Given the description of an element on the screen output the (x, y) to click on. 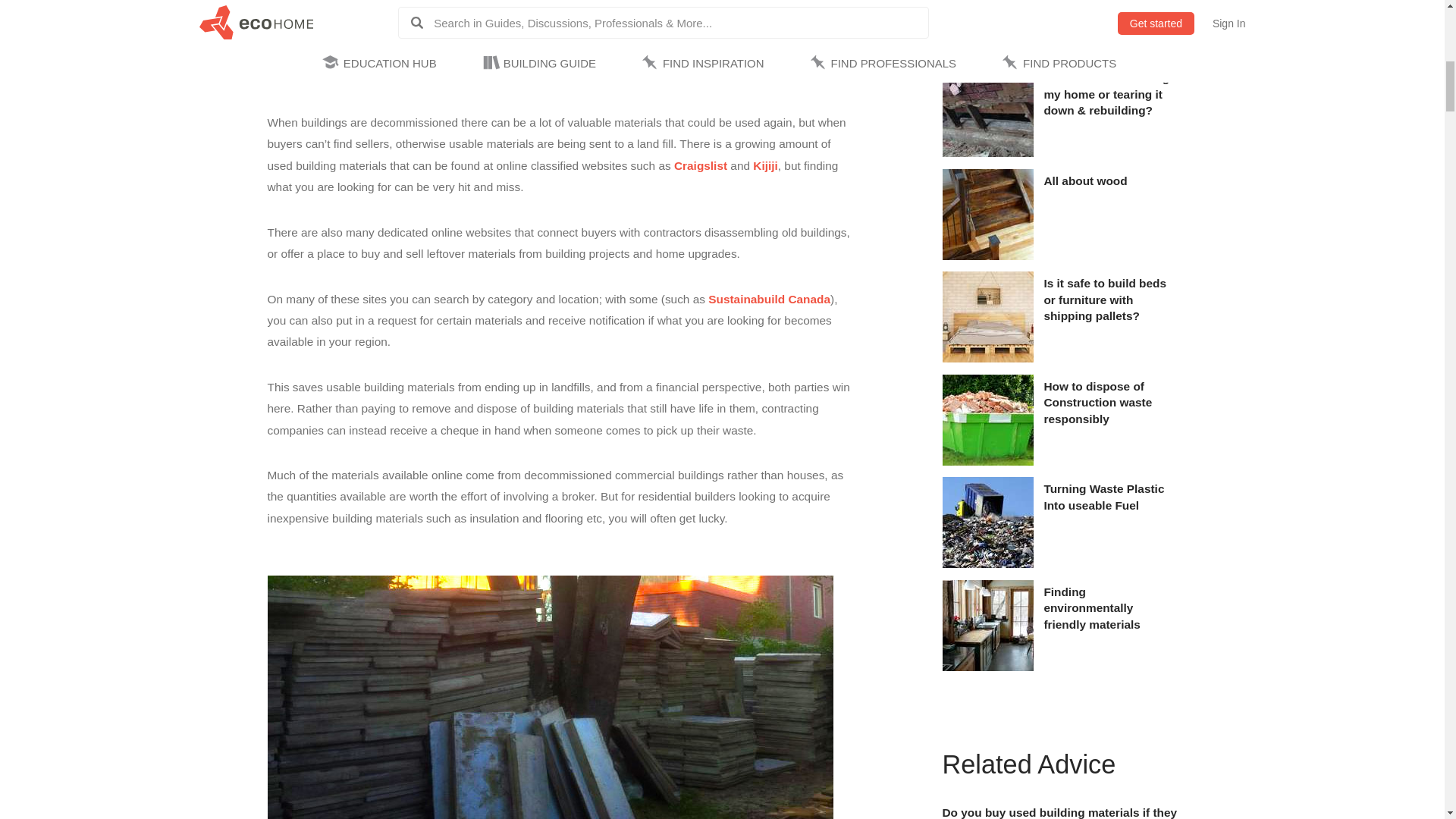
Finding environmentally friendly materials (1107, 608)
Save money and add character with used building materials (987, 50)
Building with recycled materials (987, 666)
All about wood (1107, 180)
Is it safe to build beds or furniture with shipping pallets? (1107, 299)
Turning Waste Plastic Into useable Fuel (1107, 496)
Choosing sustainable wood products (987, 256)
Pallet Beds are Cool - But are they Toxic? (987, 358)
How to dispose of Construction waste responsibly (1107, 402)
How to reduce and manage waste during home construction (987, 461)
Turning waste plastic into fuel (987, 563)
